Given the description of an element on the screen output the (x, y) to click on. 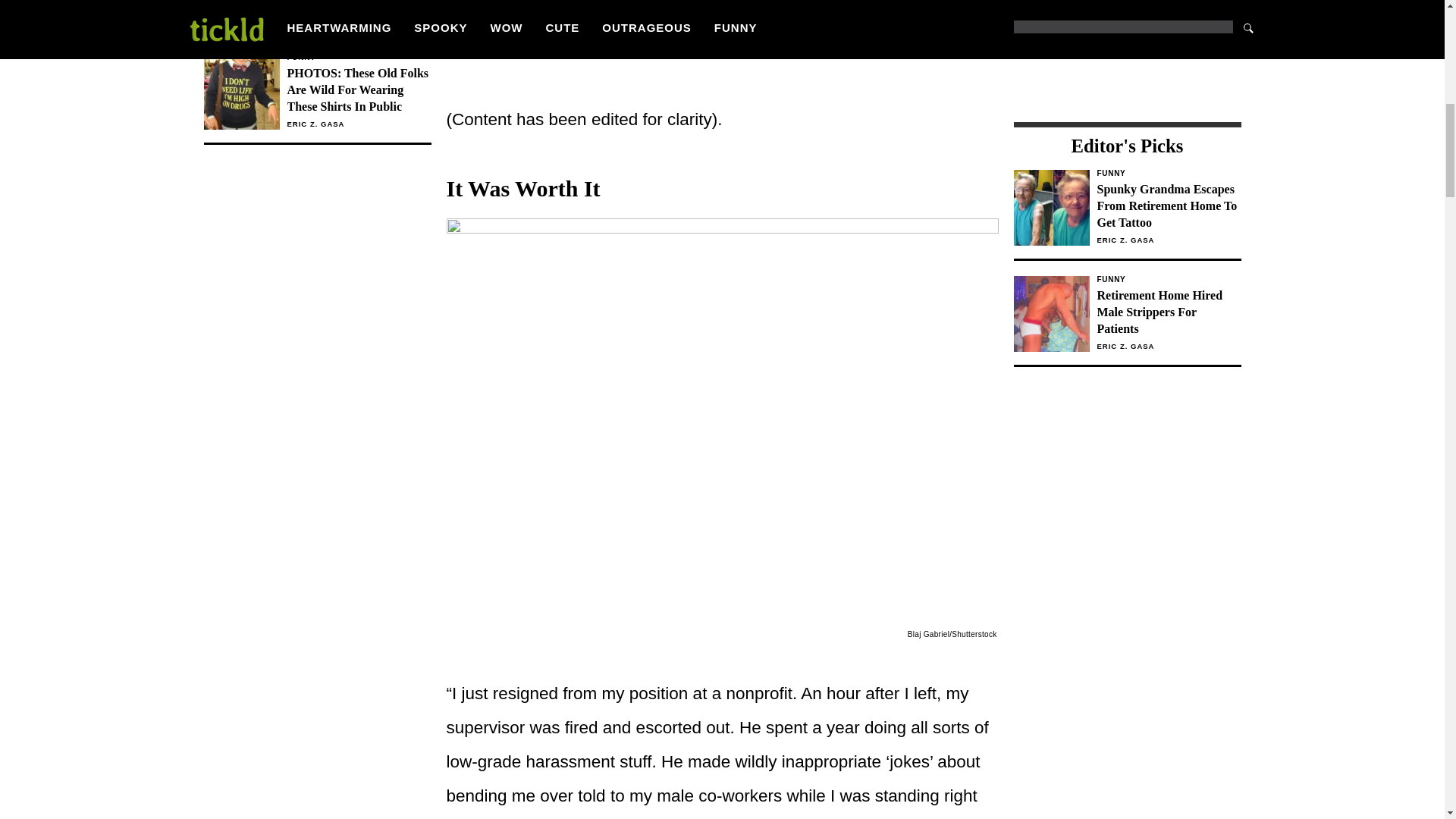
Retirement Home Hired Male Strippers For Patients (1168, 312)
Funny (1168, 173)
Blaj Gabriel (928, 633)
Spunky Grandma Escapes From Retirement Home To Get Tattoo (1168, 205)
Funny (1168, 279)
